Given the description of an element on the screen output the (x, y) to click on. 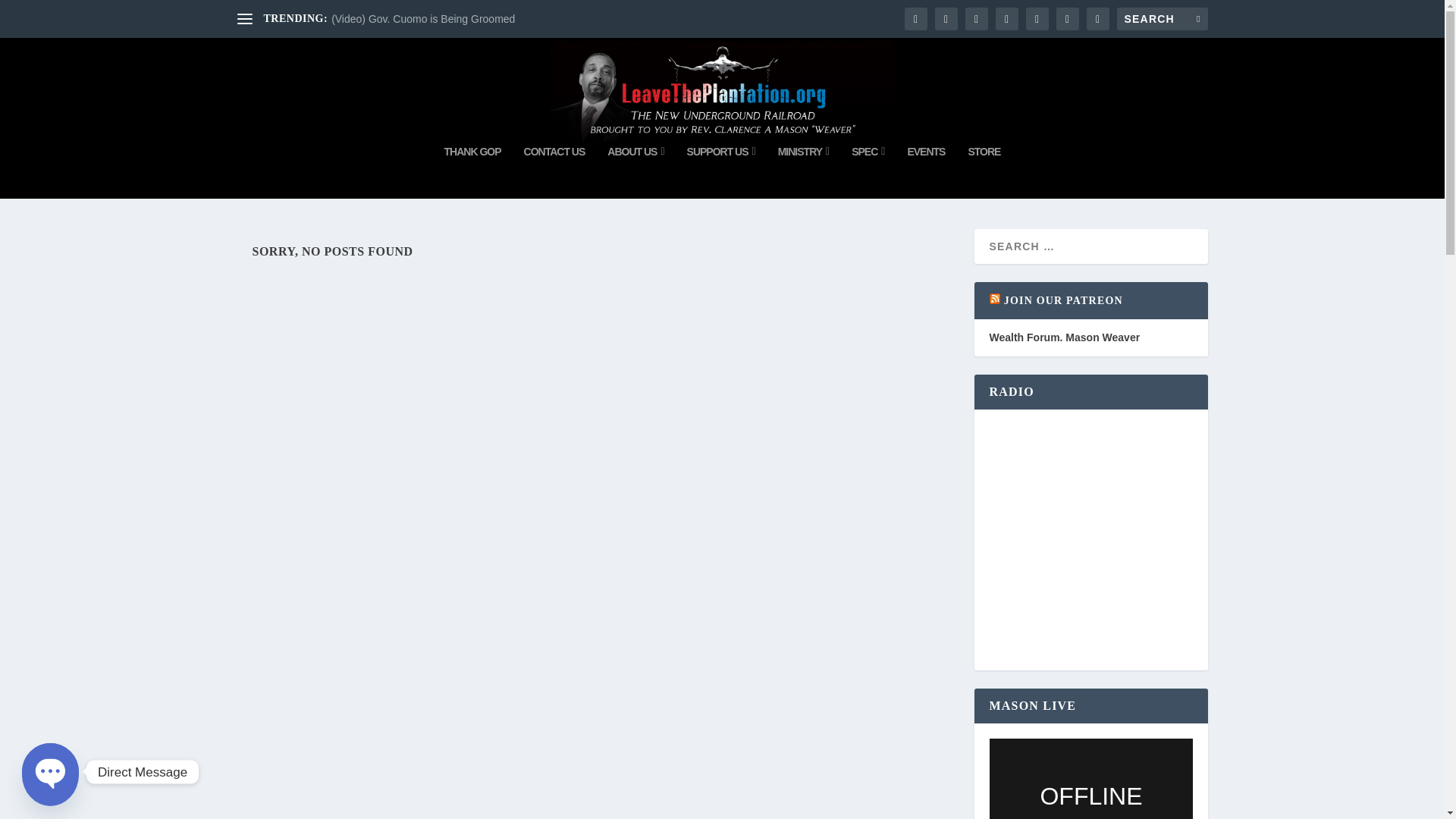
ABOUT US (635, 172)
CONTACT US (554, 172)
SUPPORT US (721, 172)
Search for: (1161, 18)
MINISTRY (803, 172)
SPEC (867, 172)
THANK GOP (472, 172)
